Given the description of an element on the screen output the (x, y) to click on. 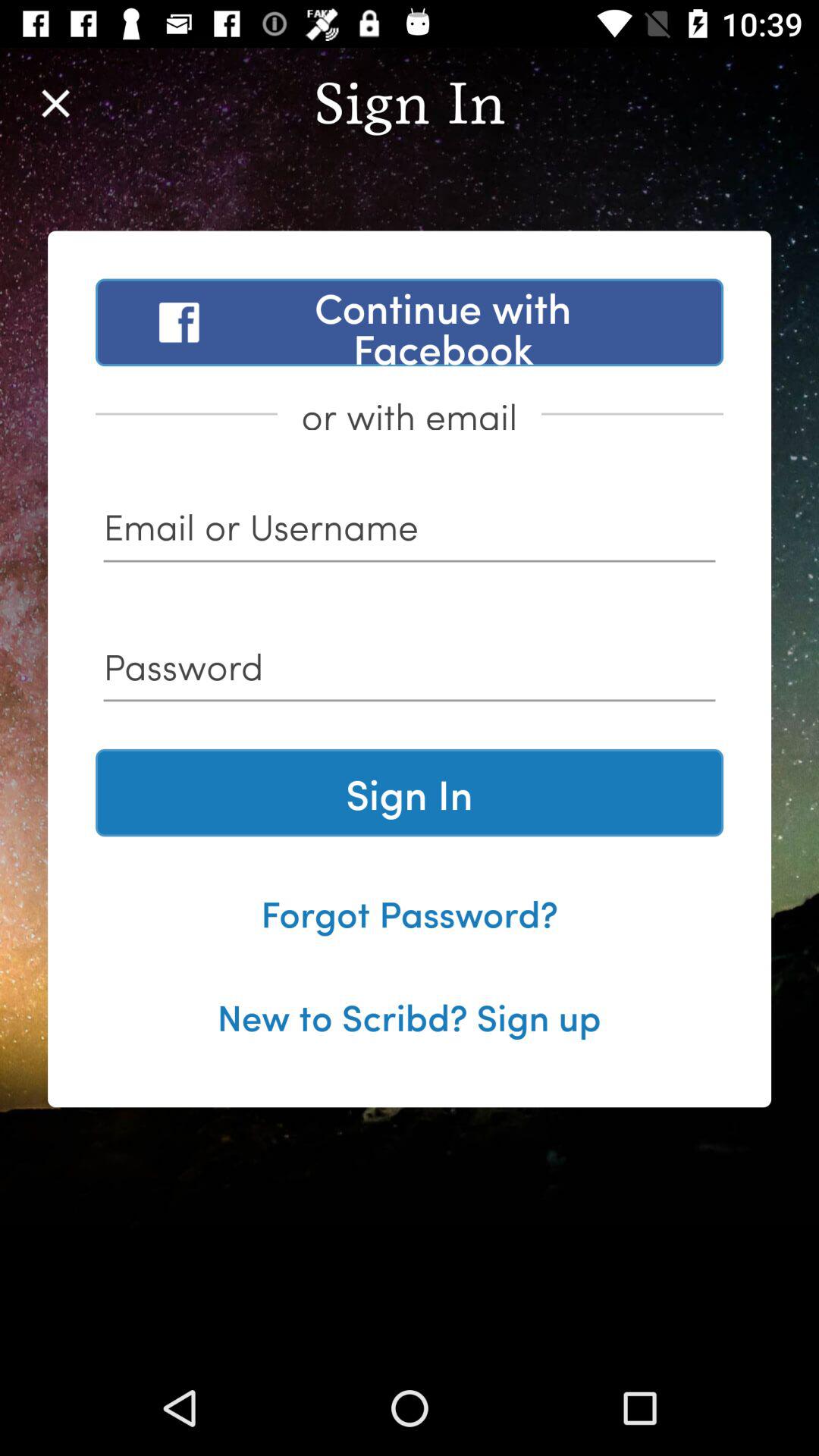
choose item below the forgot password? item (409, 1015)
